Given the description of an element on the screen output the (x, y) to click on. 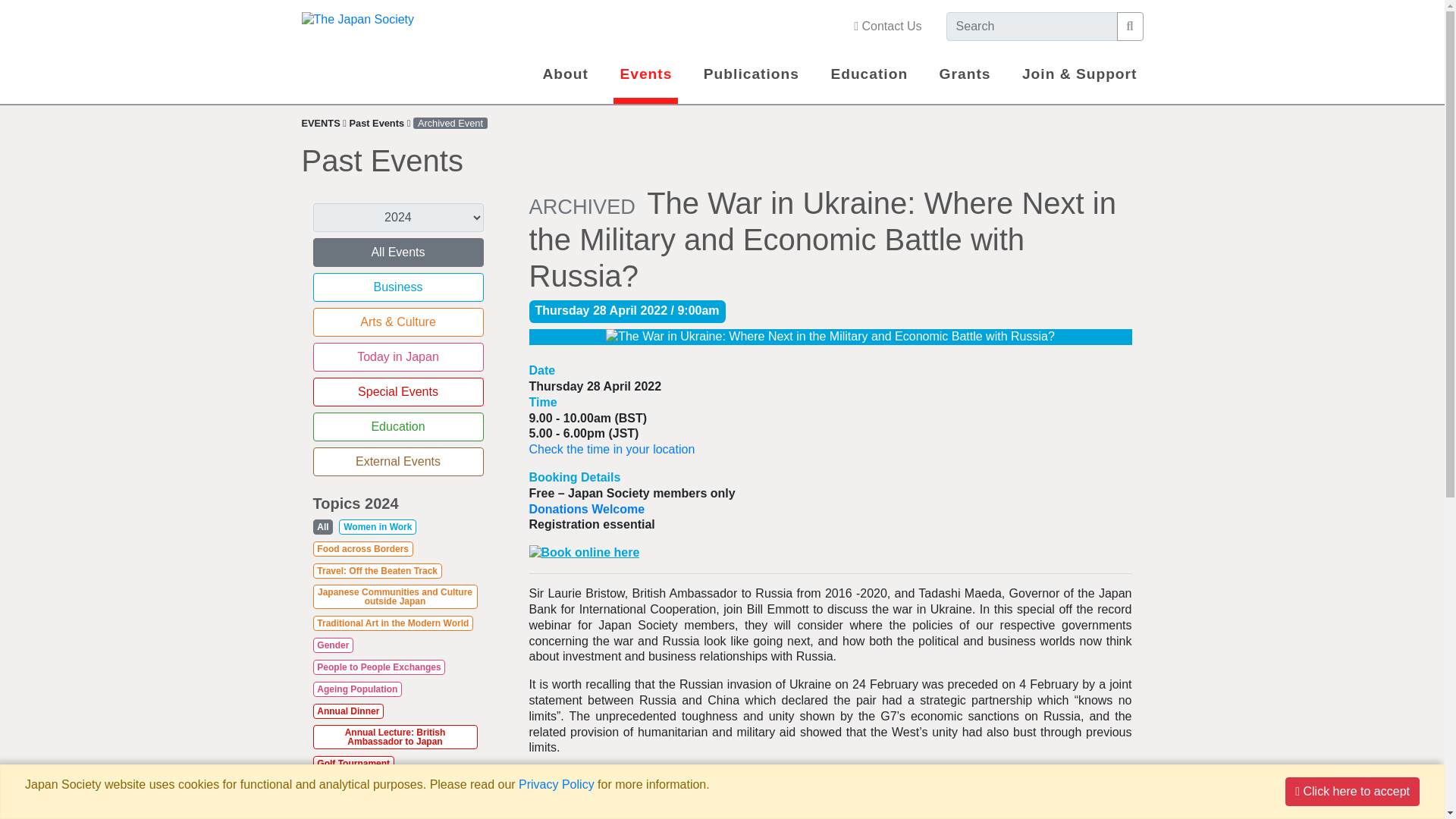
About (565, 74)
Events (645, 74)
Contact Us (887, 26)
Search (1129, 26)
